Given the description of an element on the screen output the (x, y) to click on. 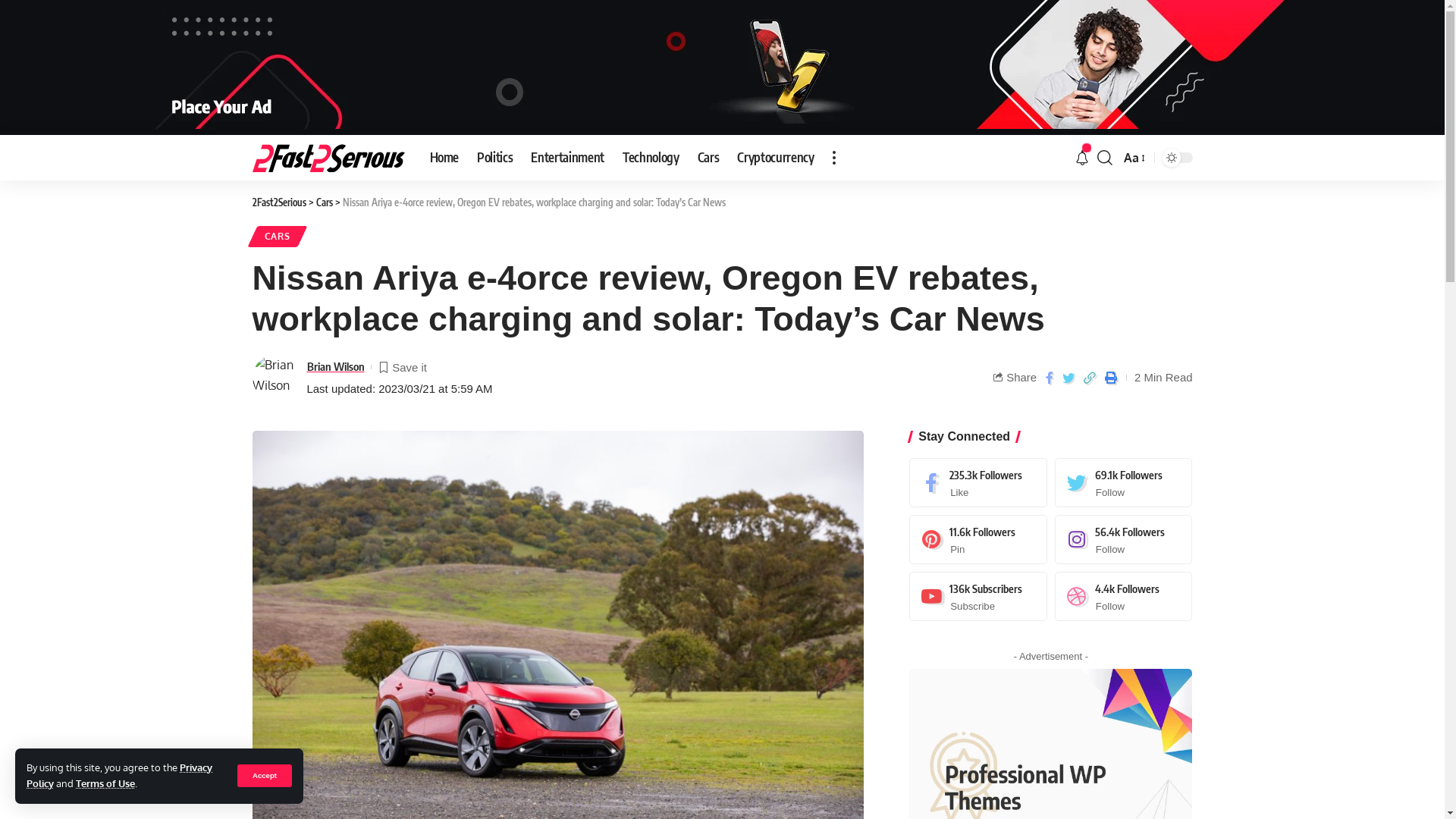
Privacy Policy Element type: text (119, 775)
Aa Element type: text (1132, 157)
Technology Element type: text (650, 157)
Home Element type: text (443, 157)
Entertainment Element type: text (567, 157)
Twitter Element type: hover (1123, 482)
Cars Element type: text (323, 202)
Terms of Use Element type: text (104, 783)
CARS Element type: text (276, 236)
Facebook Element type: hover (978, 482)
Instagram Element type: hover (1123, 539)
Youtube Element type: hover (978, 595)
Cryptocurrency Element type: text (775, 157)
Cars Element type: text (708, 157)
Brian Wilson Element type: text (335, 366)
2Fast2Serious Element type: text (278, 202)
Politics Element type: text (494, 157)
2Fast2Serious Element type: hover (327, 158)
Dribbble Element type: hover (1123, 595)
Pinterest Element type: hover (978, 539)
Accept Element type: text (264, 775)
